Given the description of an element on the screen output the (x, y) to click on. 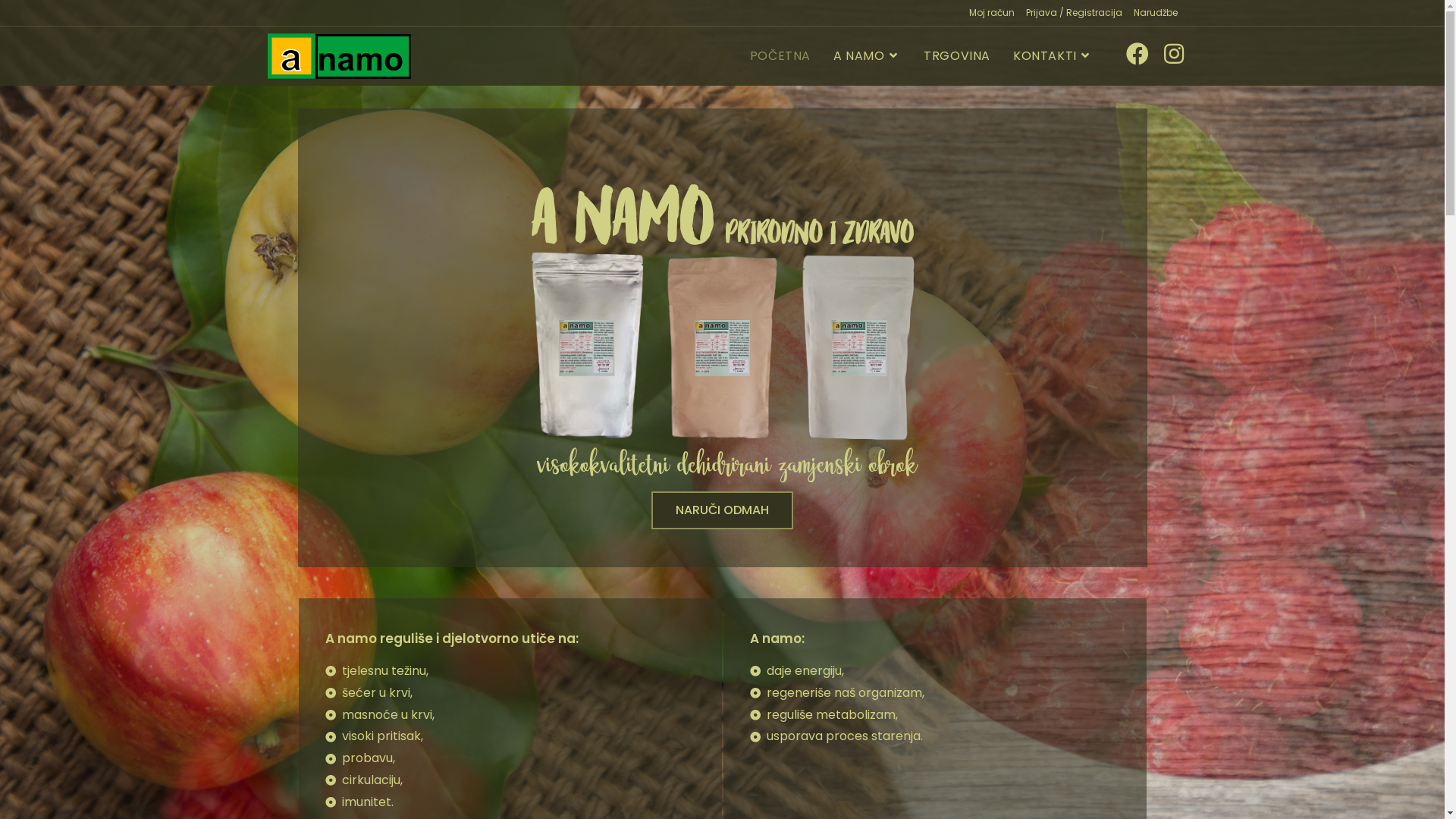
KONTAKTI Element type: text (1052, 55)
A NAMO Element type: text (867, 55)
TRGOVINA Element type: text (956, 55)
Prijava / Registracija Element type: text (1073, 12)
